Given the description of an element on the screen output the (x, y) to click on. 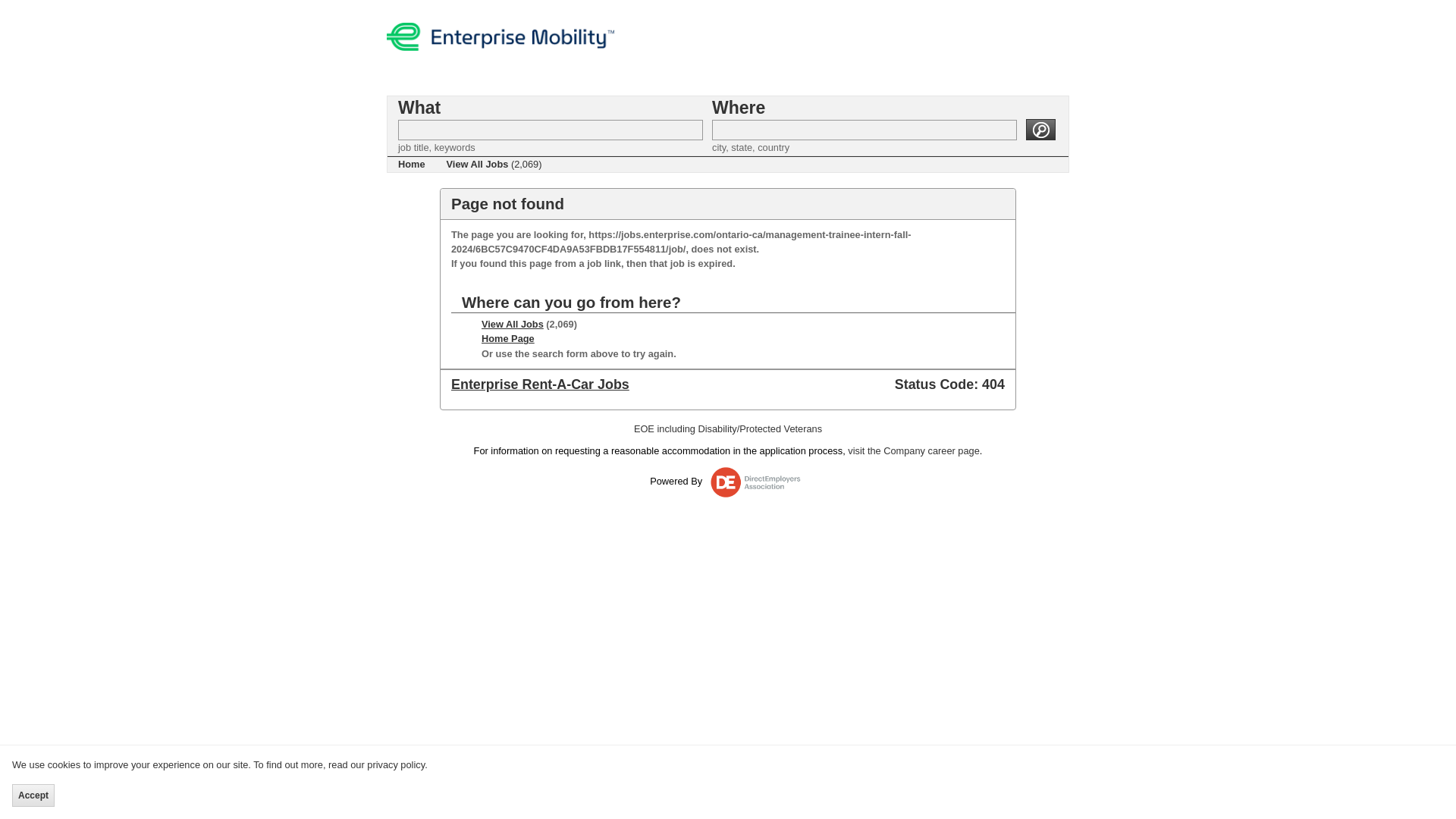
Search Location (863, 129)
search (1040, 129)
search (1040, 129)
Enterprise Rent-A-Car Jobs (539, 384)
Search Phrase (550, 129)
Home Page (507, 337)
View All Jobs (512, 324)
Home (411, 164)
visit the Company career page (913, 450)
Submit Search (1040, 129)
